Given the description of an element on the screen output the (x, y) to click on. 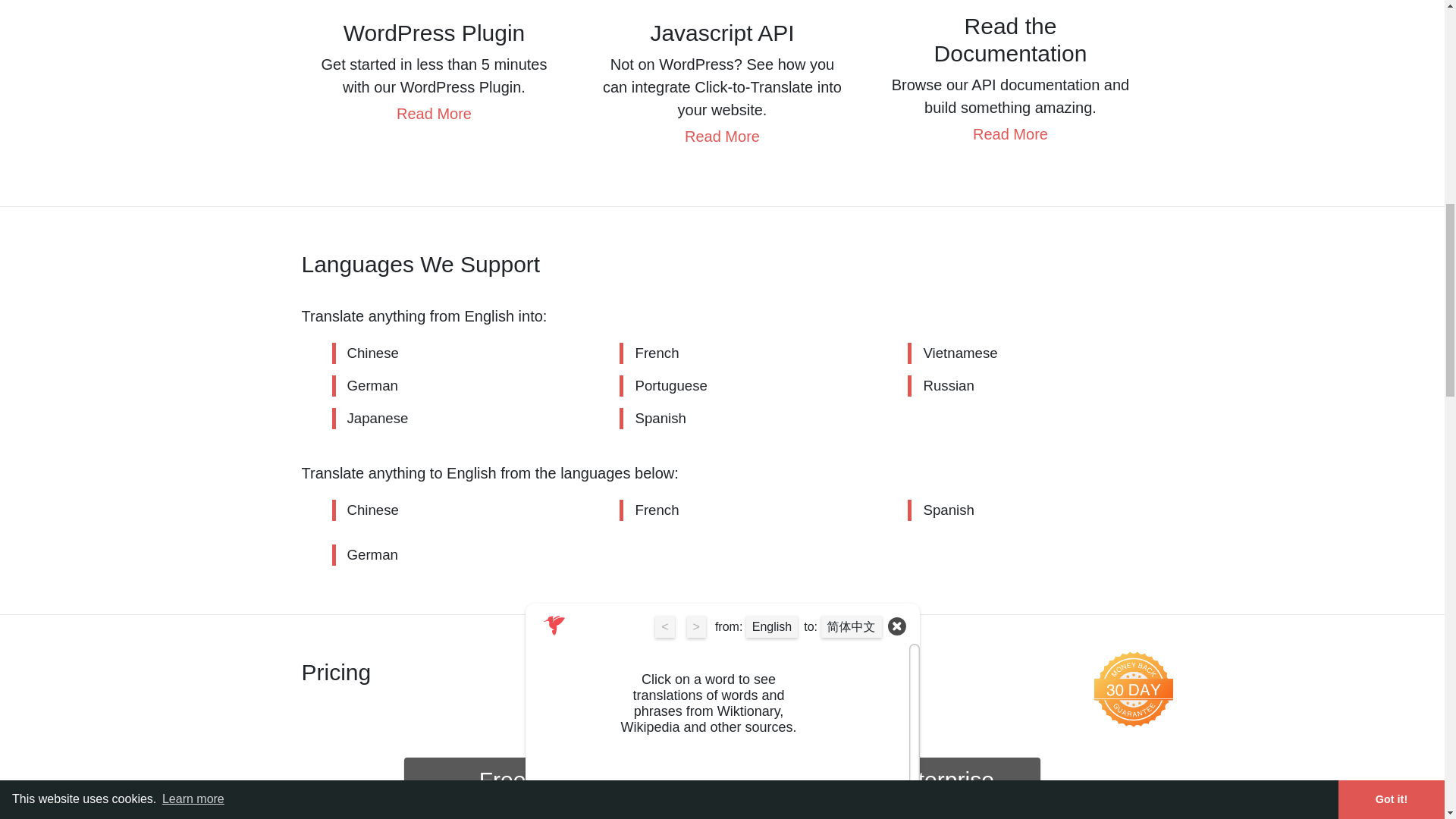
Read More (722, 135)
Read More (433, 113)
Read More (1010, 134)
